Given the description of an element on the screen output the (x, y) to click on. 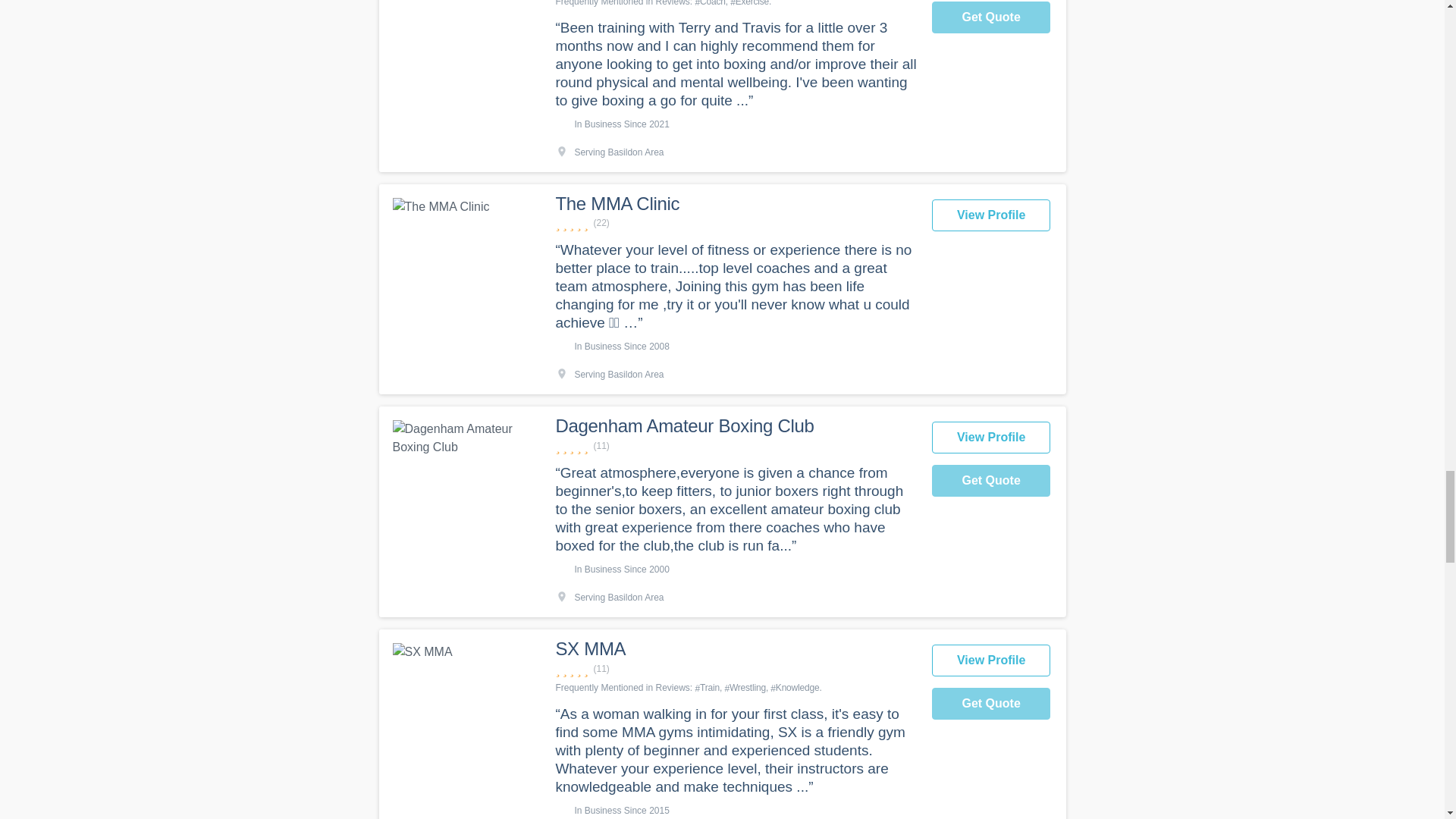
4.9 (734, 223)
4.7 (734, 445)
